Given the description of an element on the screen output the (x, y) to click on. 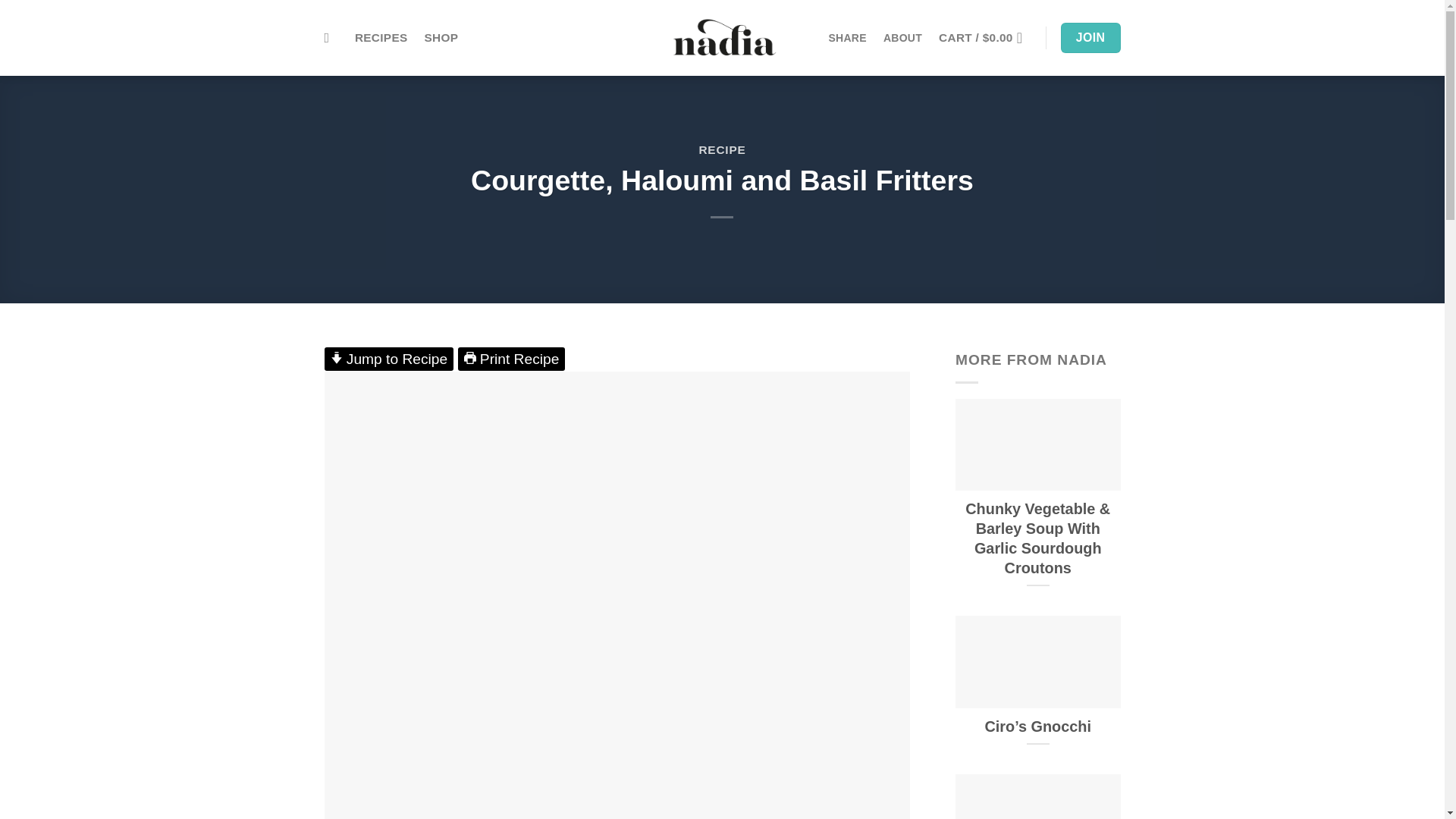
RECIPE (721, 149)
Print Recipe (512, 359)
Potato, kale and bacon gratin (1038, 796)
SHOP (441, 37)
ABOUT (902, 37)
RECIPES (381, 37)
Cart (985, 37)
SHARE (847, 37)
JOIN (1091, 37)
